Given the description of an element on the screen output the (x, y) to click on. 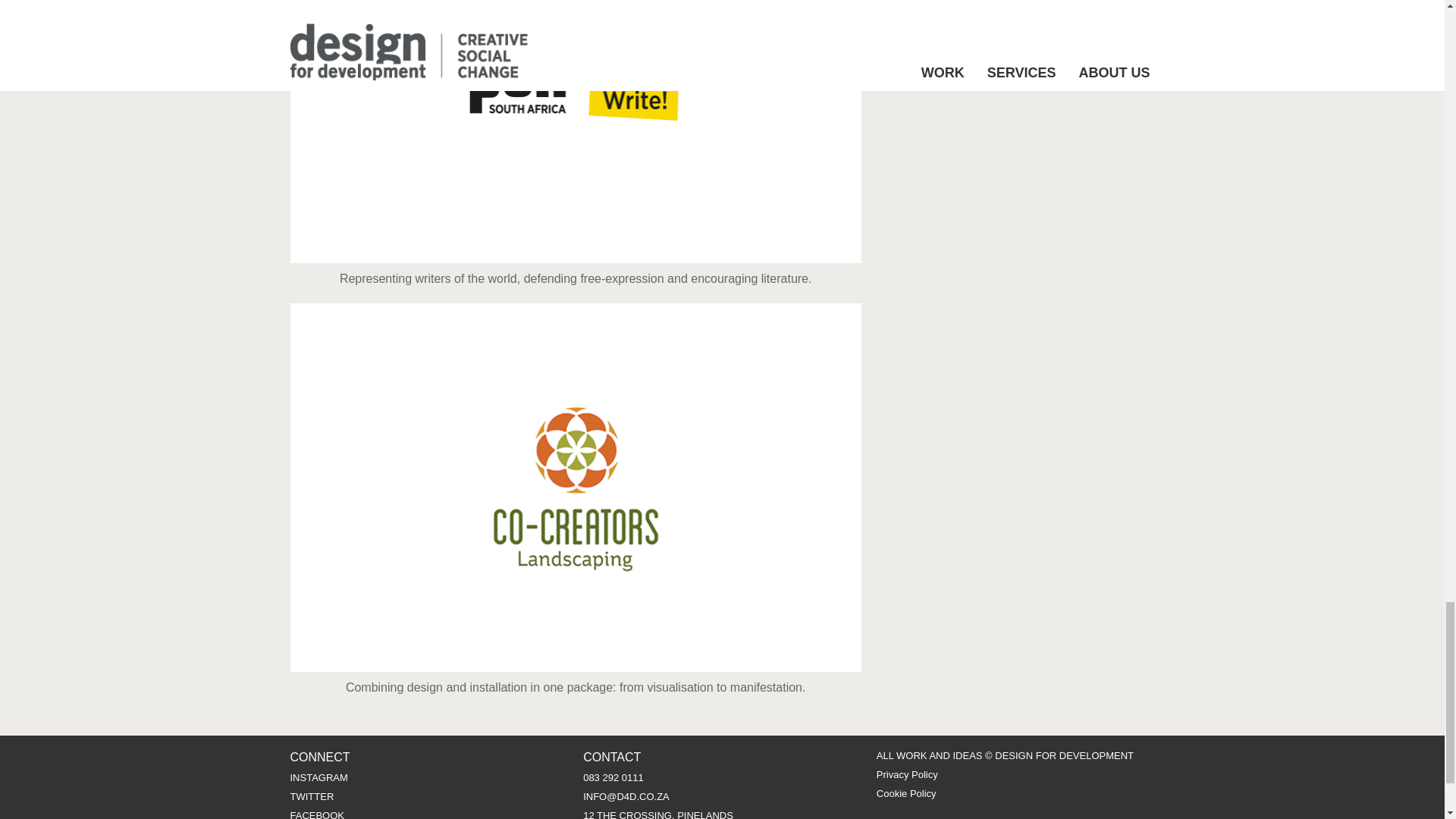
TWITTER (311, 796)
Privacy Policy  (906, 774)
Cookie Policy  (906, 793)
Cookie Policy (906, 793)
Privacy Policy (906, 774)
INSTAGRAM (318, 777)
